Given the description of an element on the screen output the (x, y) to click on. 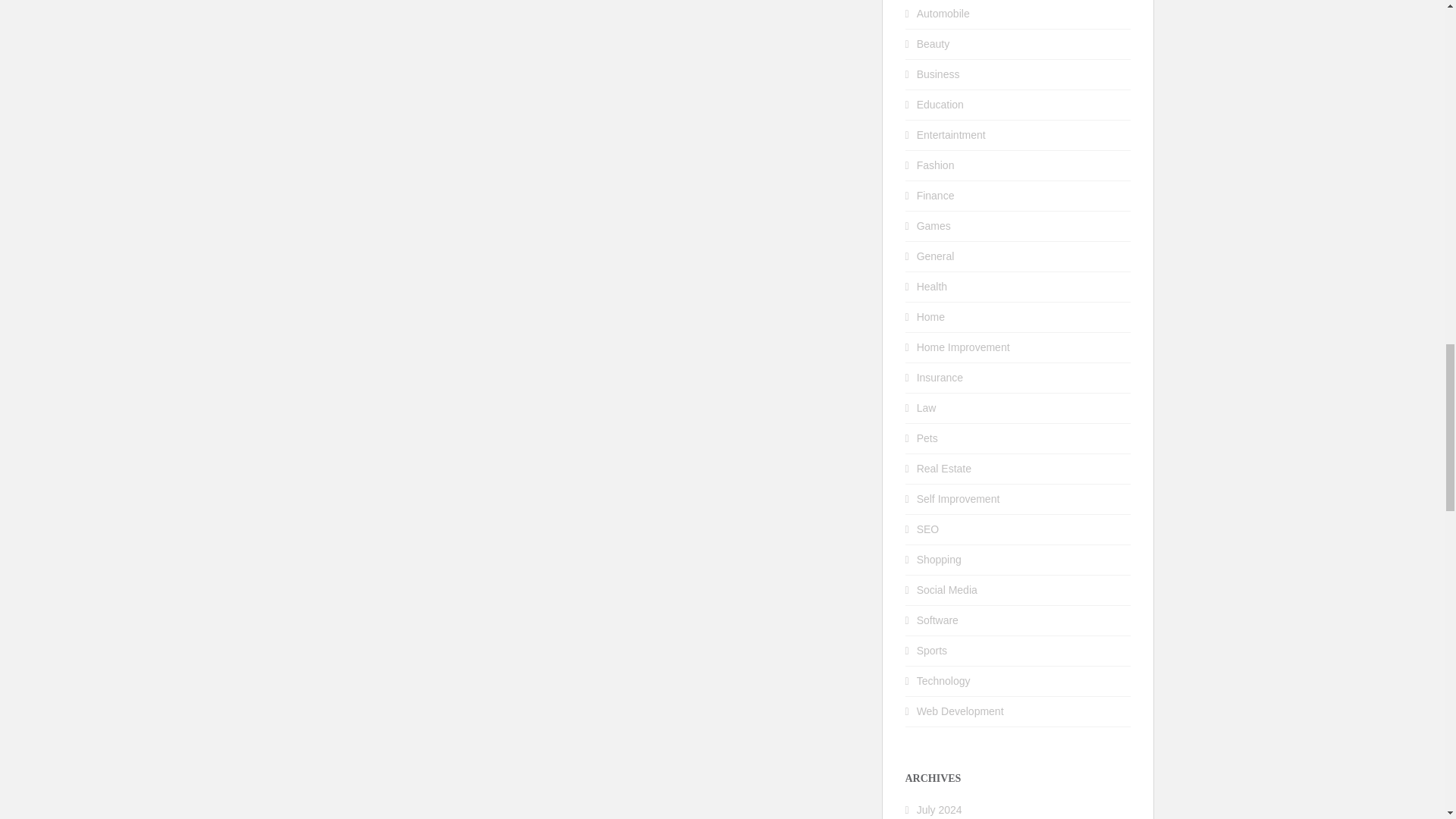
Beauty (933, 43)
Automobile (943, 13)
Business (938, 73)
